Given the description of an element on the screen output the (x, y) to click on. 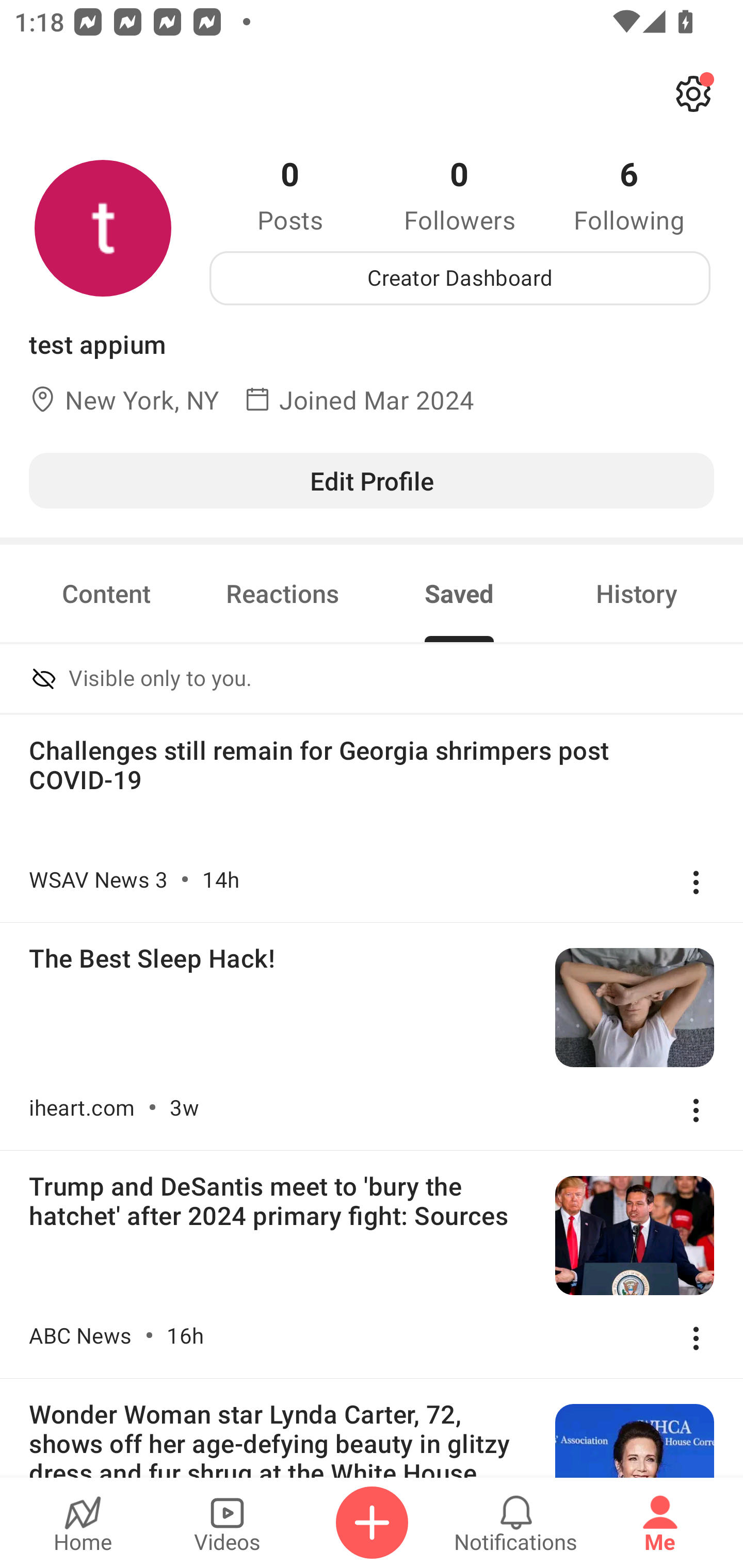
0 Followers (459, 194)
6 Following (629, 194)
Creator Dashboard (459, 277)
Edit Profile (371, 480)
Content (105, 593)
Reactions (282, 593)
History (636, 593)
The Best Sleep Hack! iheart.com 3w (371, 1035)
Home (83, 1522)
Videos (227, 1522)
Notifications (516, 1522)
